Given the description of an element on the screen output the (x, y) to click on. 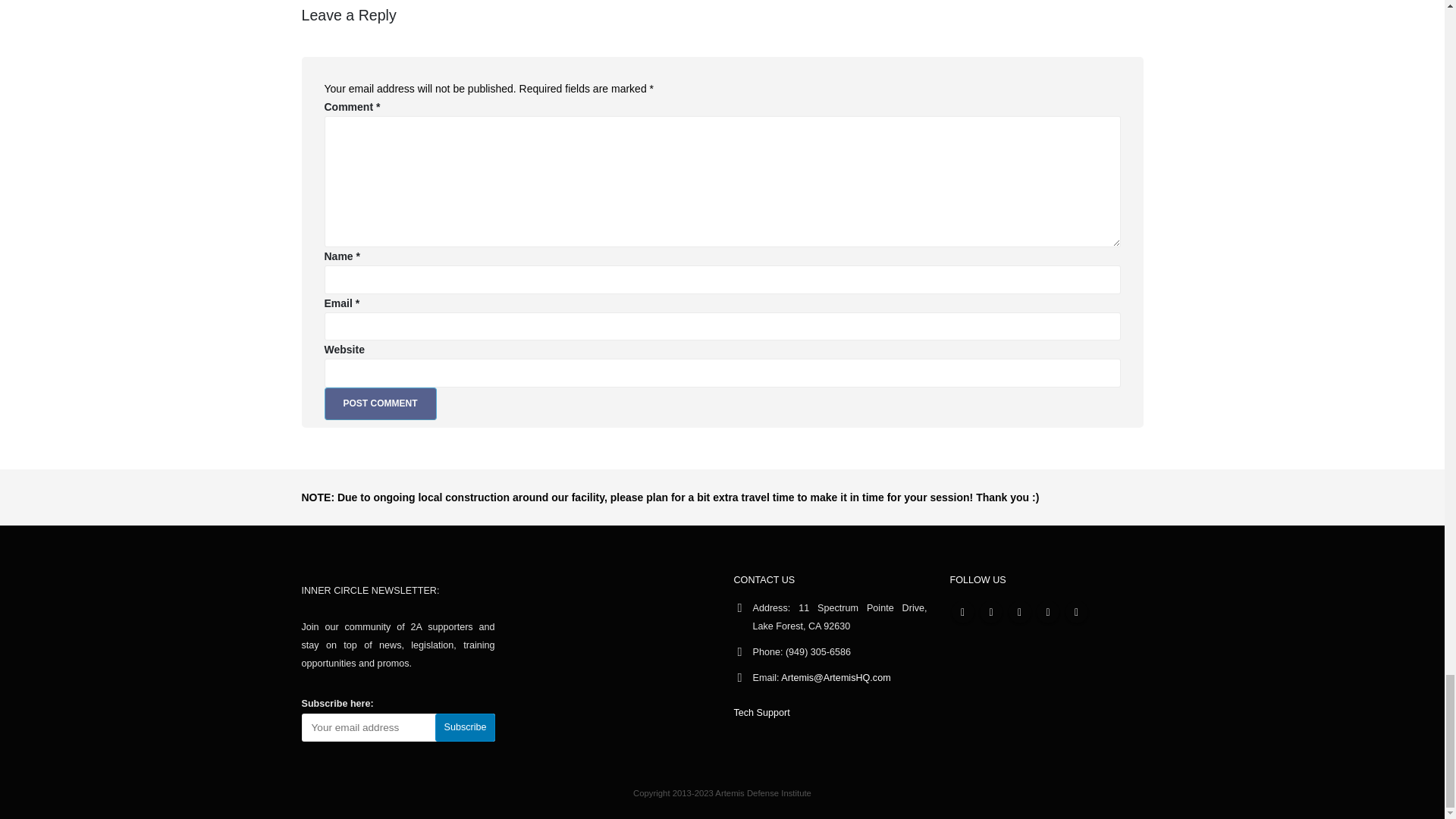
Instagram (1047, 611)
Twitter (991, 611)
Yelp (1075, 611)
Post Comment (380, 403)
Youtube (1019, 611)
Facebook (962, 611)
Subscribe (465, 727)
